Given the description of an element on the screen output the (x, y) to click on. 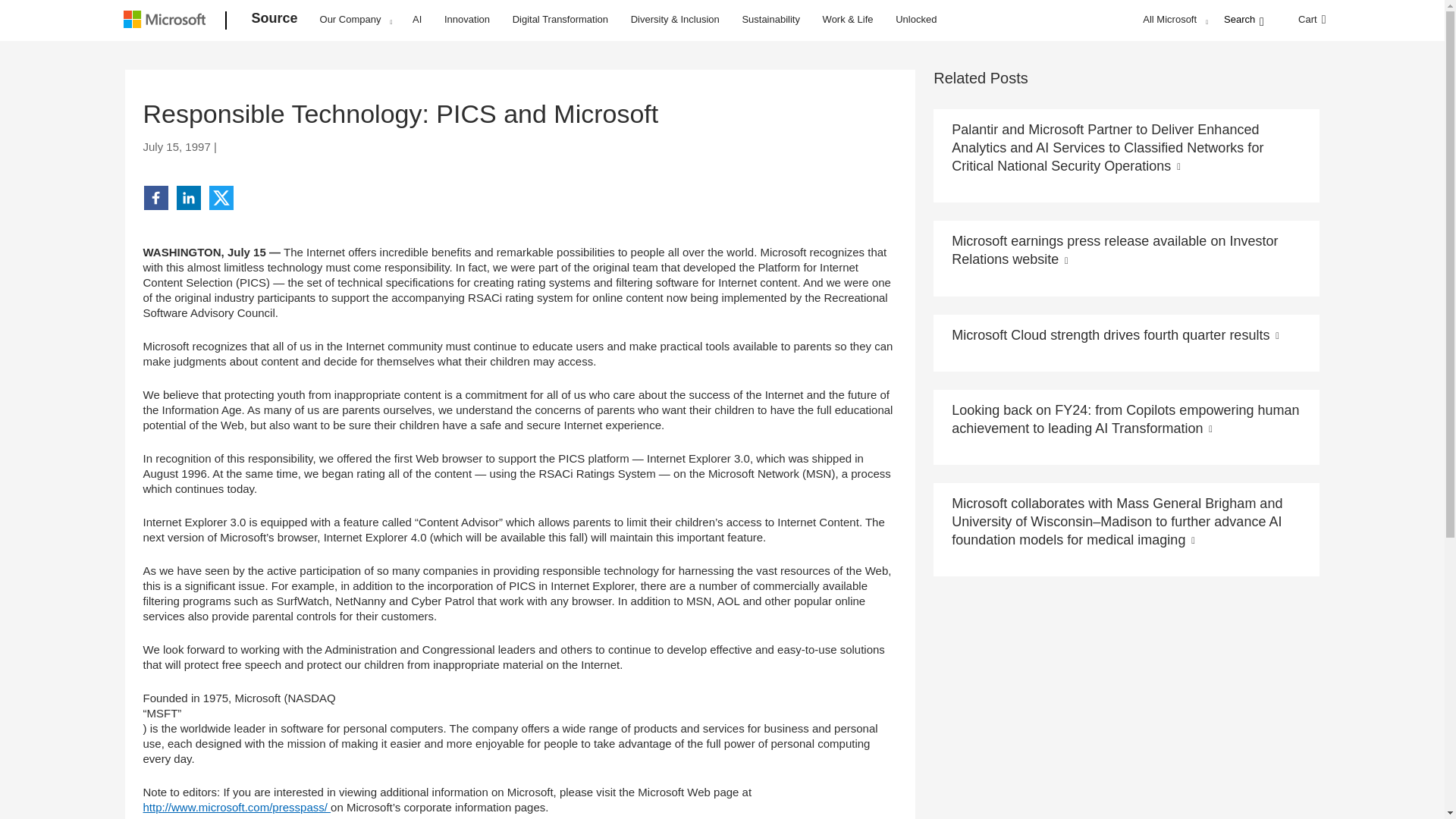
Unlocked (915, 18)
Sustainability (770, 18)
Innovation (467, 18)
All Microsoft (1173, 18)
Our Company (355, 18)
Digital Transformation (559, 18)
Microsoft (167, 20)
Source (274, 20)
